Given the description of an element on the screen output the (x, y) to click on. 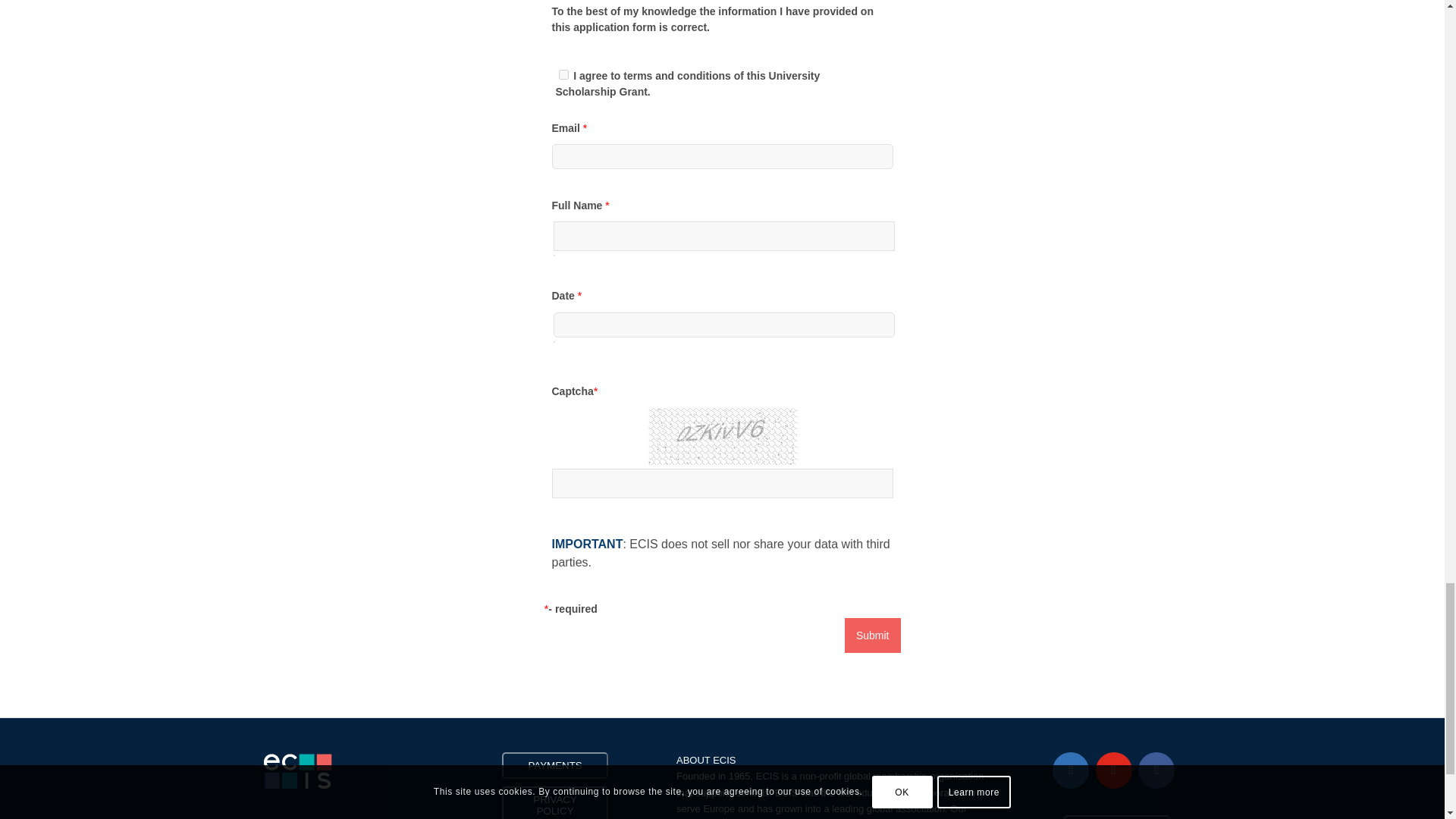
YouTube (1114, 770)
Submit (872, 635)
Facebook (1156, 770)
PAYMENTS (555, 765)
PAYMENTS (553, 765)
Linkedin (1070, 770)
Captcha (721, 445)
on (562, 74)
